Given the description of an element on the screen output the (x, y) to click on. 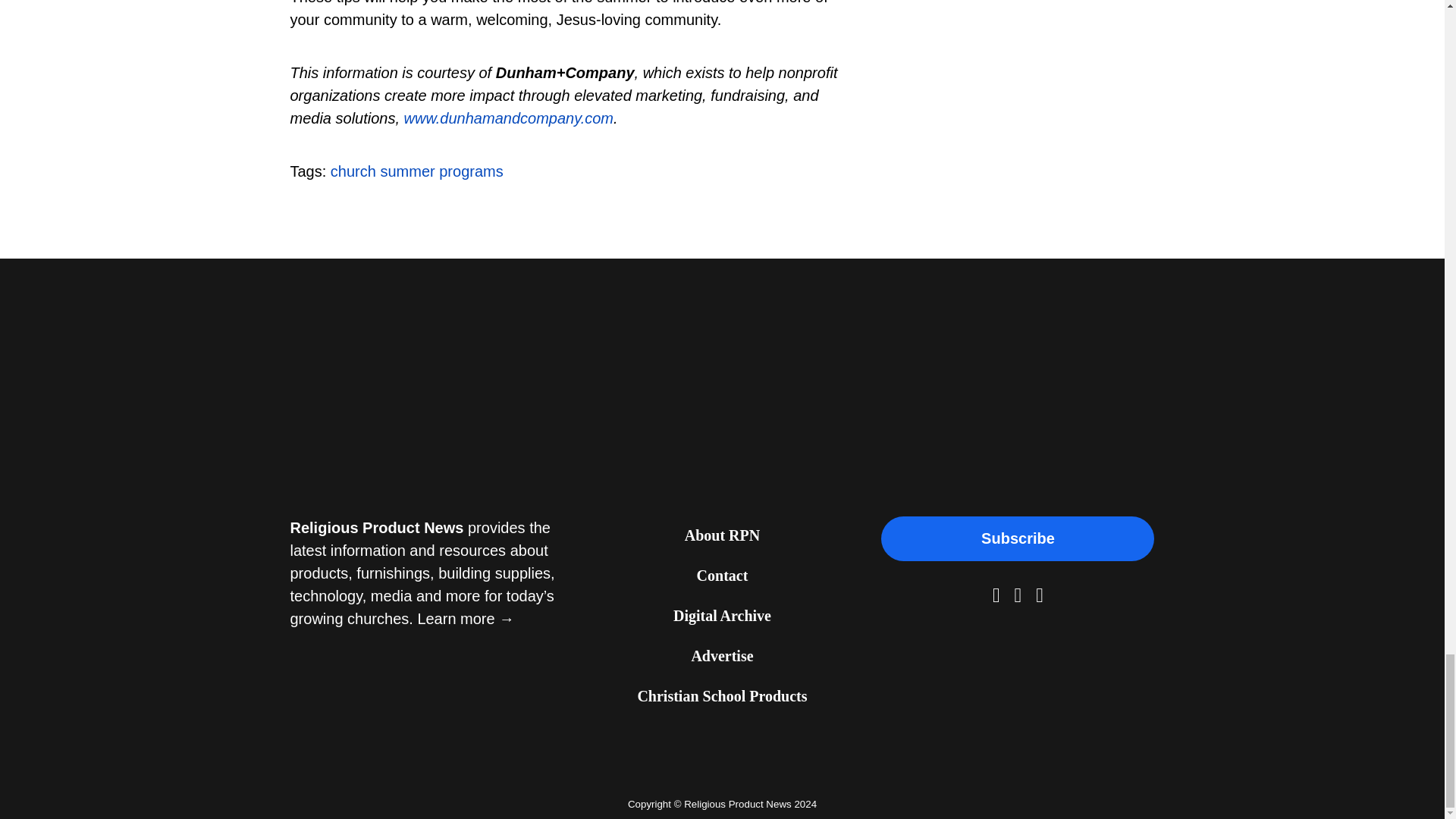
Contact (722, 576)
church summer programs (416, 170)
About RPN (722, 536)
www.dunhamandcompany.com (508, 117)
Digital Archive (721, 617)
